Given the description of an element on the screen output the (x, y) to click on. 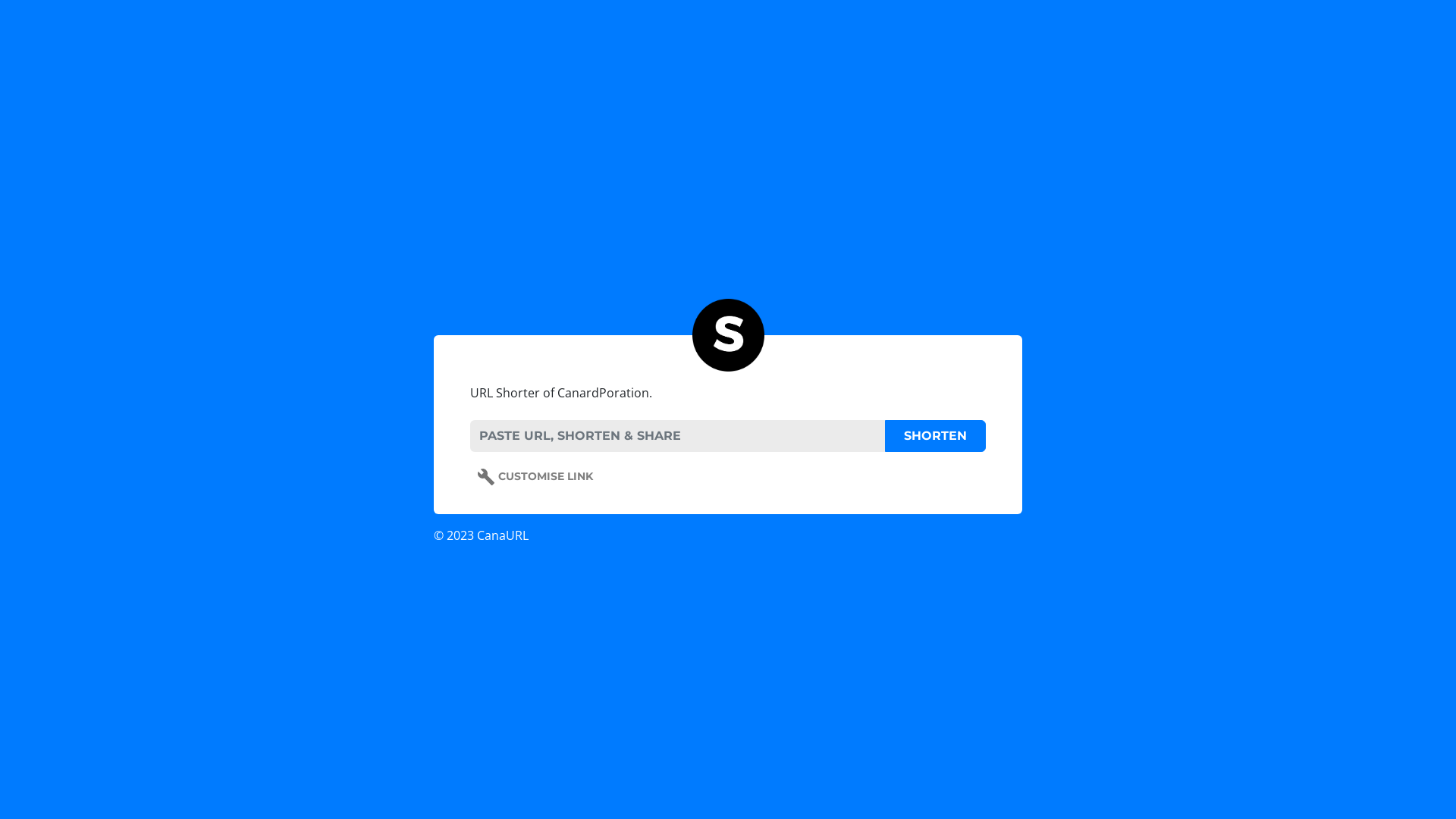
Shorten Element type: text (934, 435)
CUSTOMISE LINK Element type: text (534, 476)
